Given the description of an element on the screen output the (x, y) to click on. 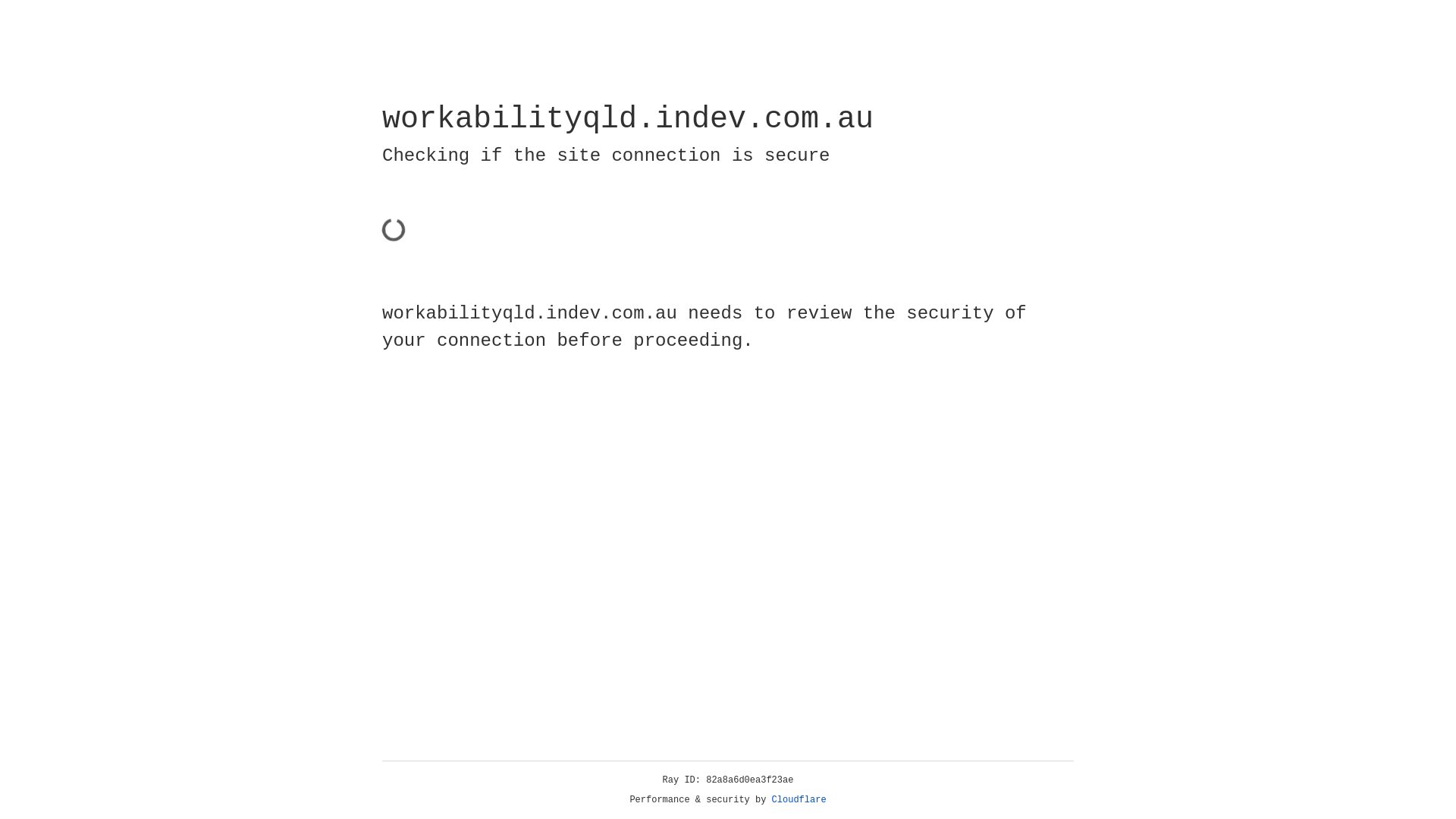
Cloudflare Element type: text (798, 799)
